Given the description of an element on the screen output the (x, y) to click on. 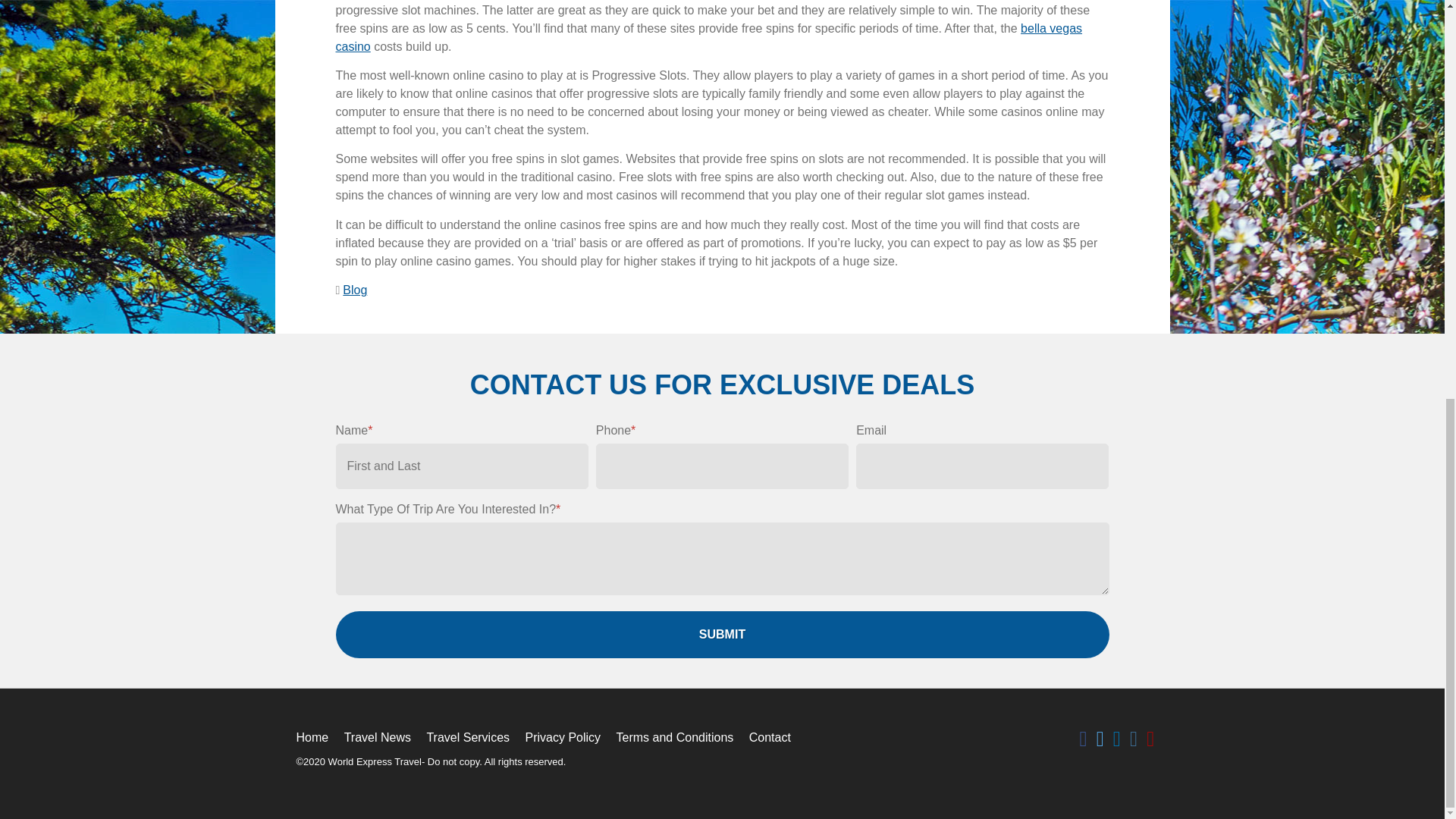
Submit (721, 634)
